Given the description of an element on the screen output the (x, y) to click on. 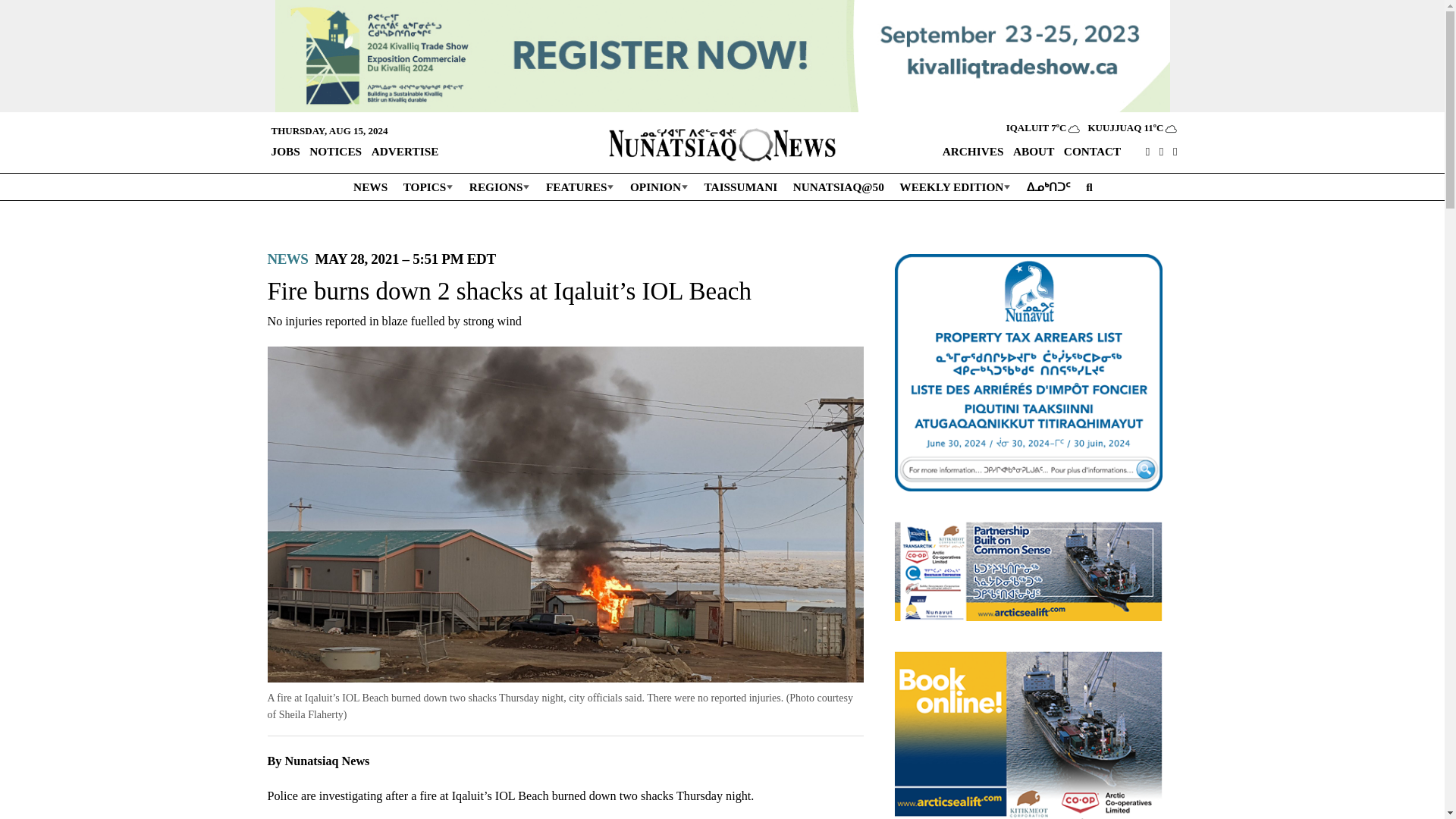
REGIONS (499, 185)
OPINION (658, 185)
ARCHIVES (973, 151)
FEATURES (579, 185)
TOPICS (428, 185)
ABOUT (1033, 151)
JOBS (284, 150)
NEWS (369, 185)
CONTACT (1091, 151)
NOTICES (335, 150)
